Given the description of an element on the screen output the (x, y) to click on. 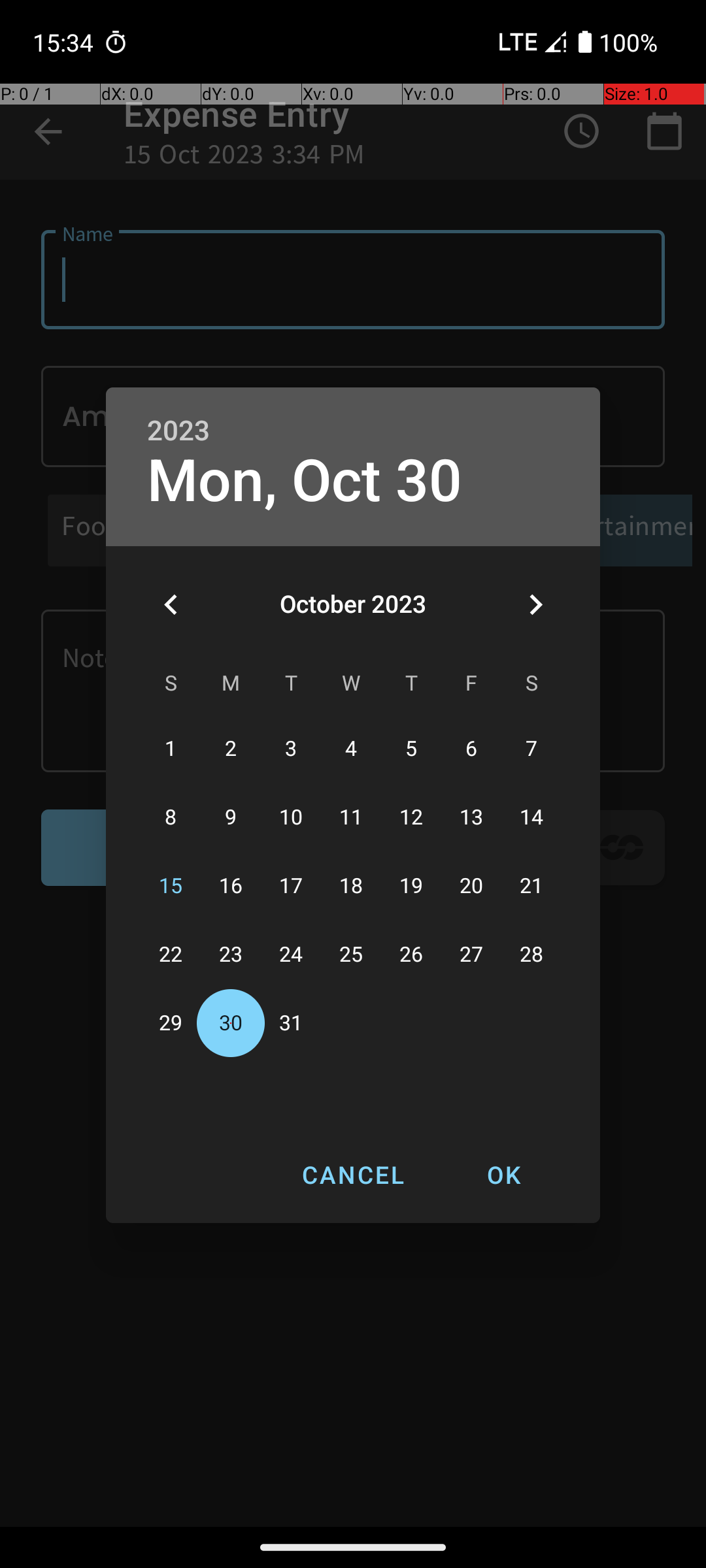
Mon, Oct 30 Element type: android.widget.TextView (304, 480)
